Given the description of an element on the screen output the (x, y) to click on. 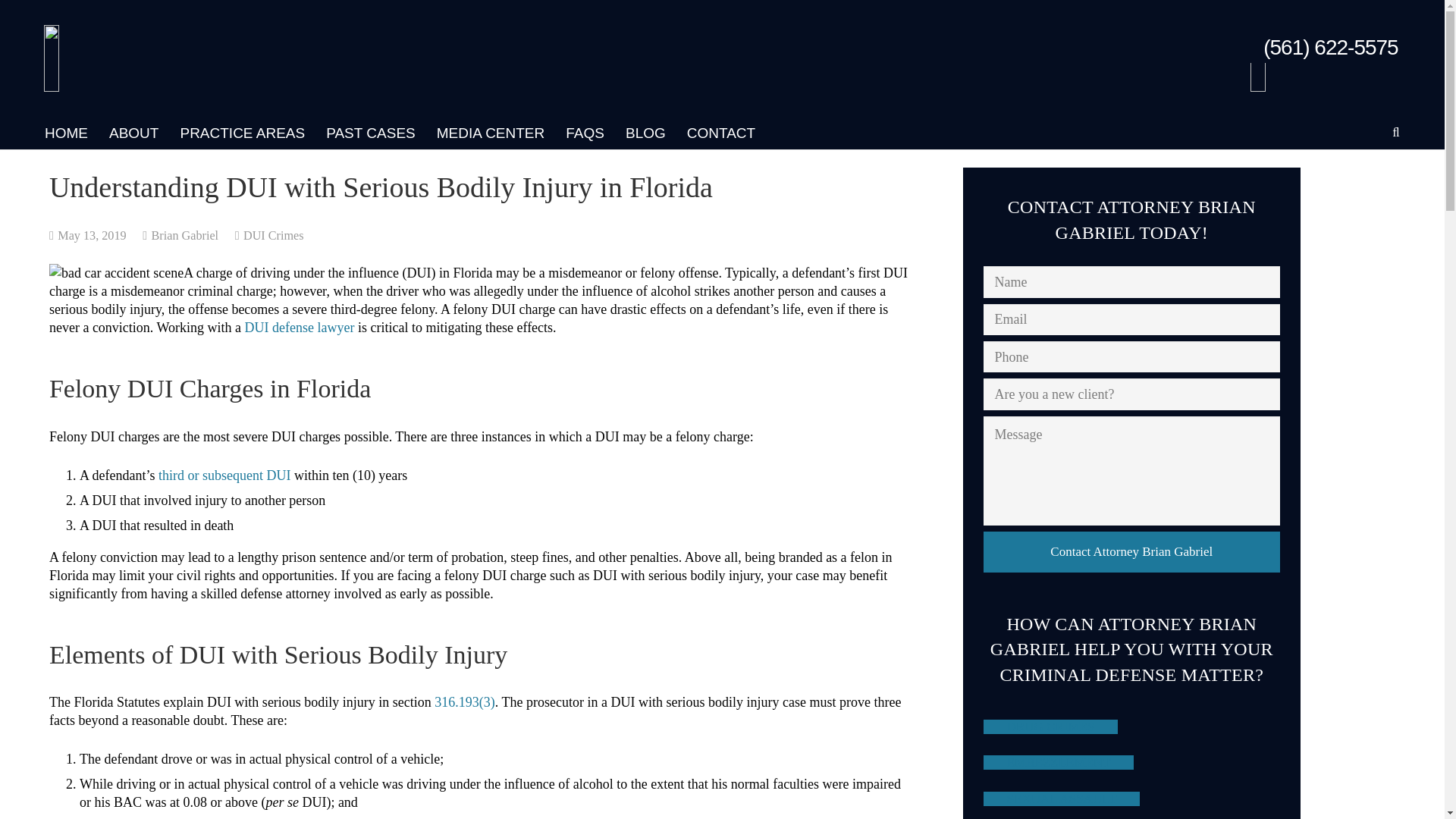
Contact Attorney Brian Gabriel (1131, 551)
PRACTICE AREAS (241, 132)
ABOUT (133, 132)
HOME (66, 132)
